Given the description of an element on the screen output the (x, y) to click on. 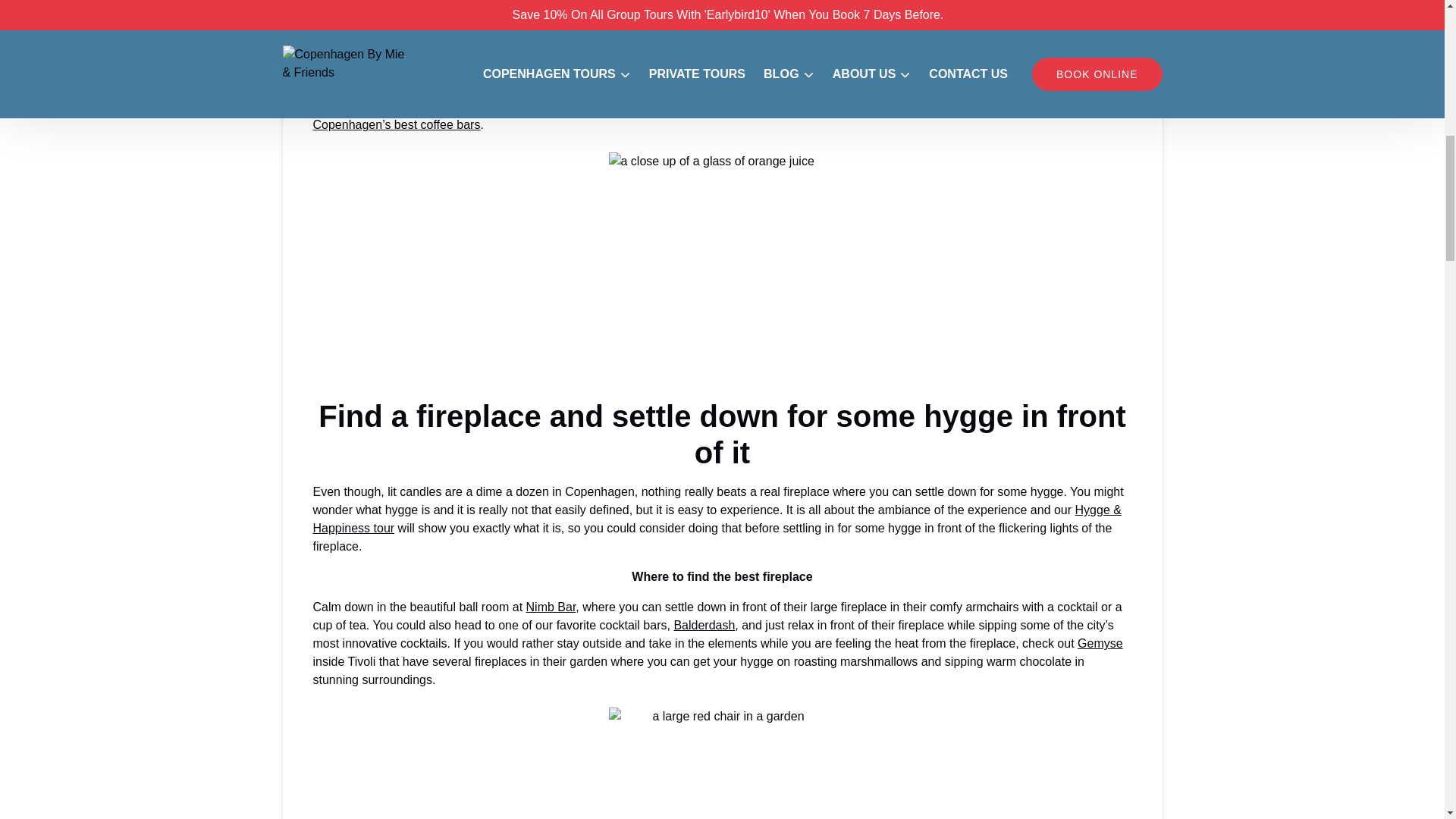
Marchal (561, 88)
Balderdash (703, 625)
Norrbohandelen (465, 88)
Nimb Bar (550, 606)
